Given the description of an element on the screen output the (x, y) to click on. 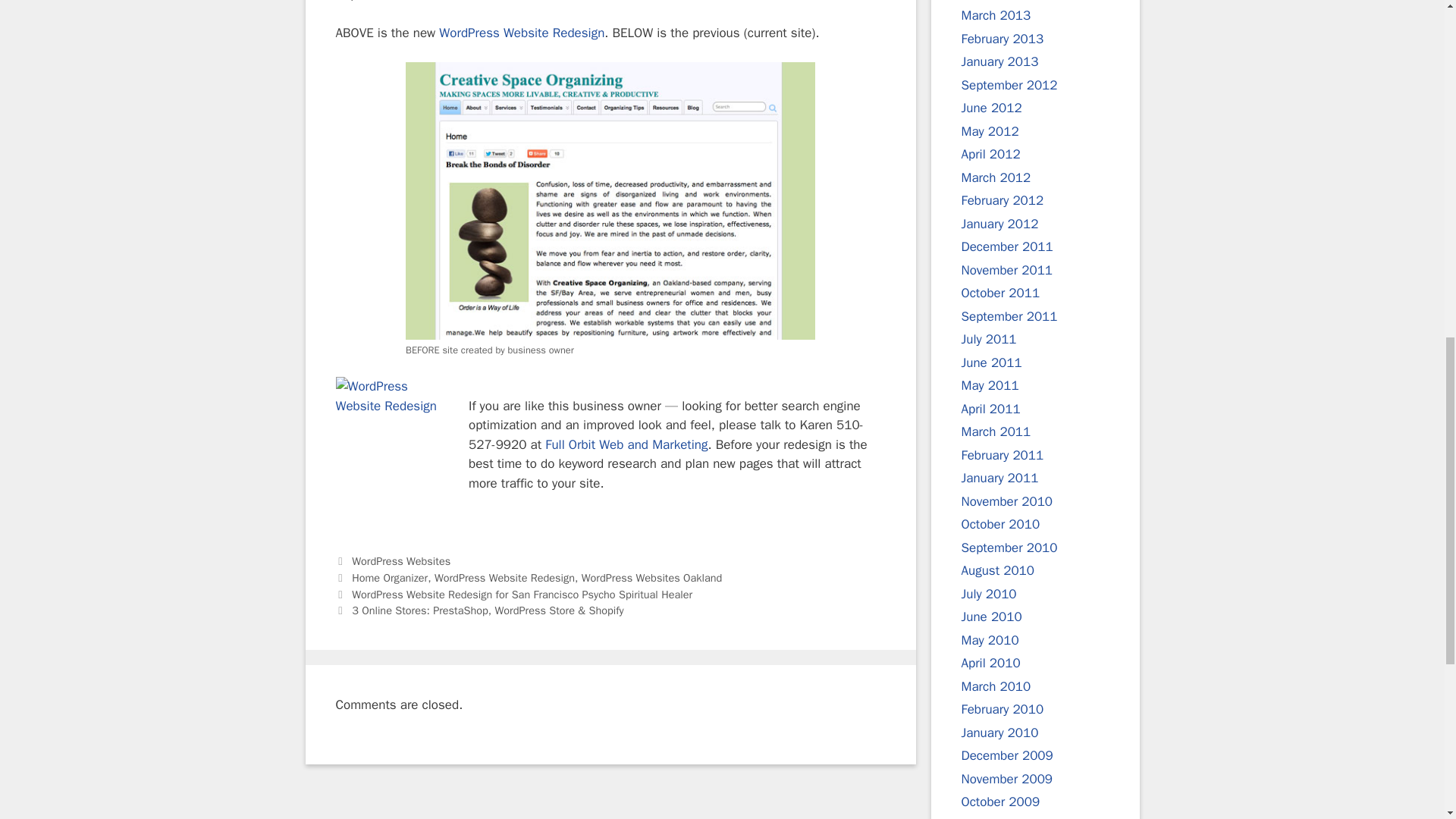
WordPress Website Redesign (521, 32)
WordPress Websites Oakland (651, 577)
Full Orbit Web and Marketing (625, 444)
WordPress Website Redesign (521, 32)
WordPress Website Redesign (625, 444)
Home Organizer (390, 577)
KarenFOWsm (391, 433)
WordPress Websites (400, 561)
WordPress Website Redesign (504, 577)
